Given the description of an element on the screen output the (x, y) to click on. 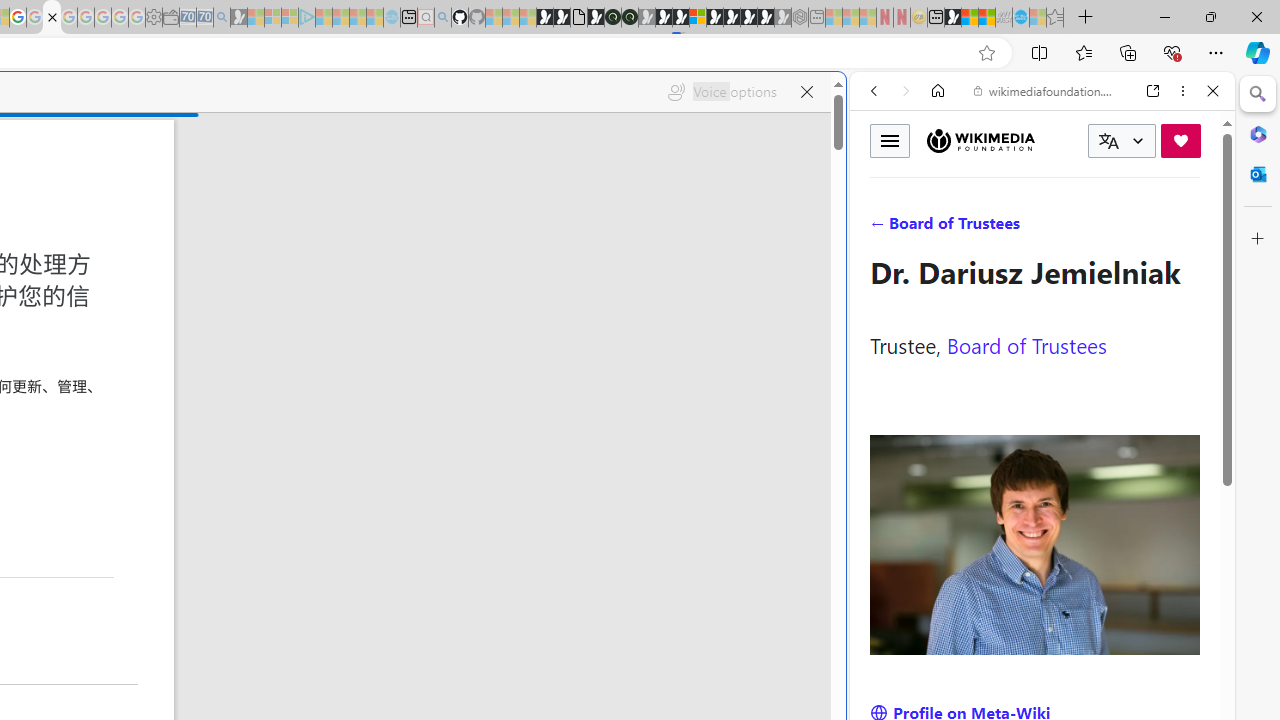
Search Filter, Search Tools (1093, 228)
Search or enter web address (343, 191)
Search Filter, WEB (882, 228)
wikimediafoundation.org (1045, 90)
Sign in to your account (697, 17)
Wikimedia Foundation (980, 140)
Voice options (721, 92)
Donate now (1180, 140)
